Given the description of an element on the screen output the (x, y) to click on. 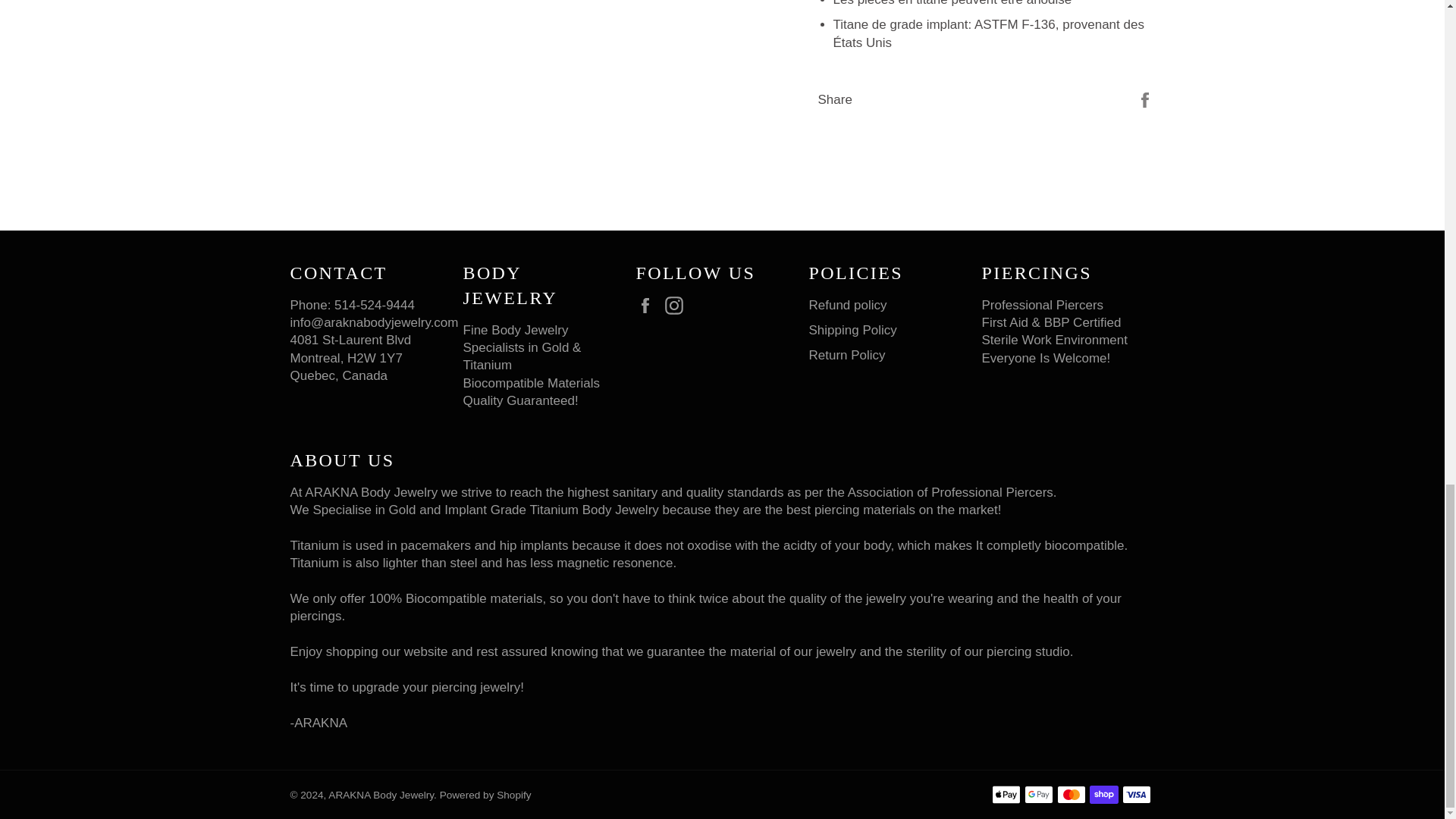
ARAKNA Body Jewelry on Instagram (677, 305)
ARAKNA Body Jewelry on Facebook (647, 305)
Share on Facebook (1144, 98)
